Given the description of an element on the screen output the (x, y) to click on. 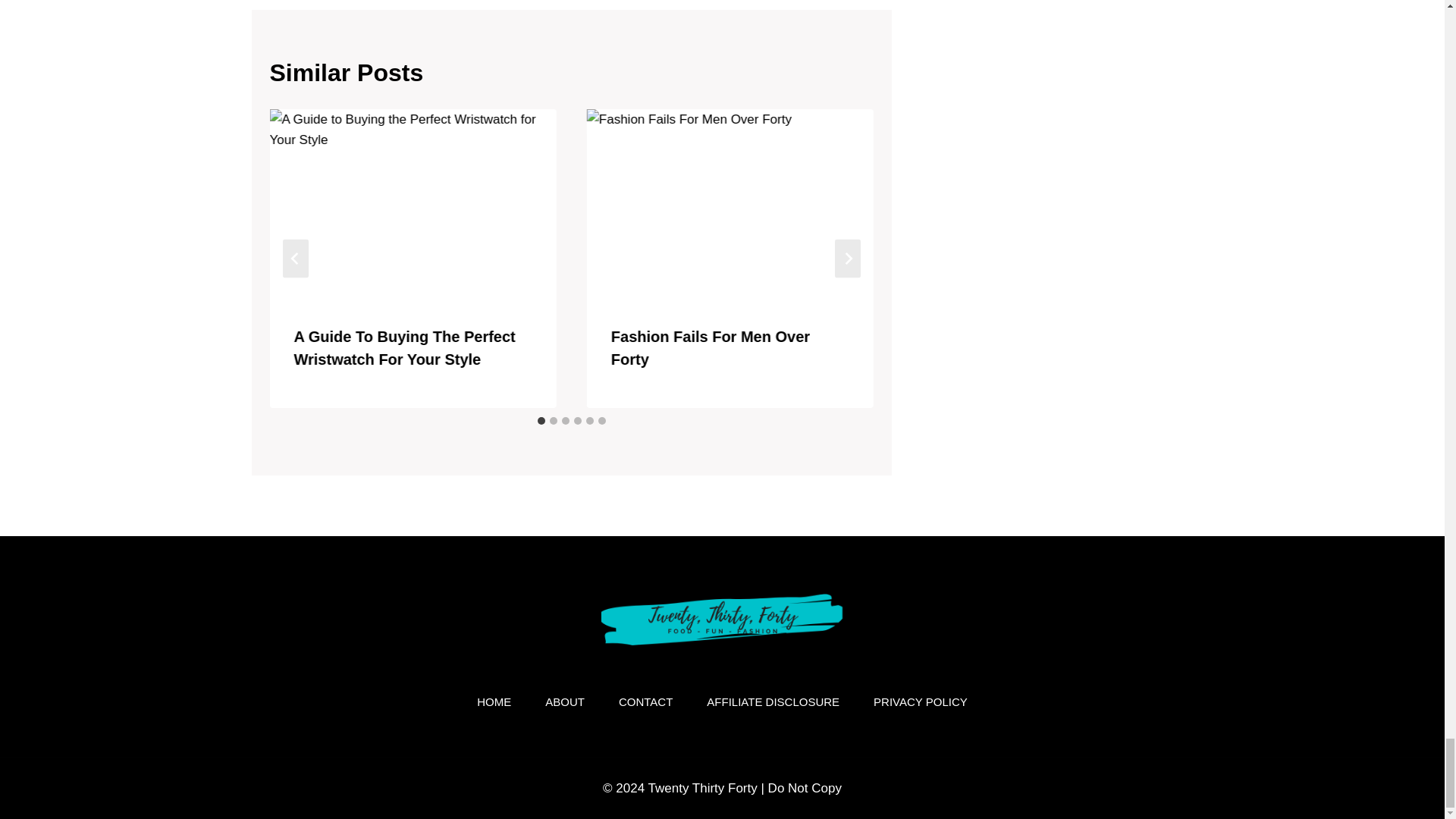
A Guide To Buying The Perfect Wristwatch For Your Style (404, 346)
